Given the description of an element on the screen output the (x, y) to click on. 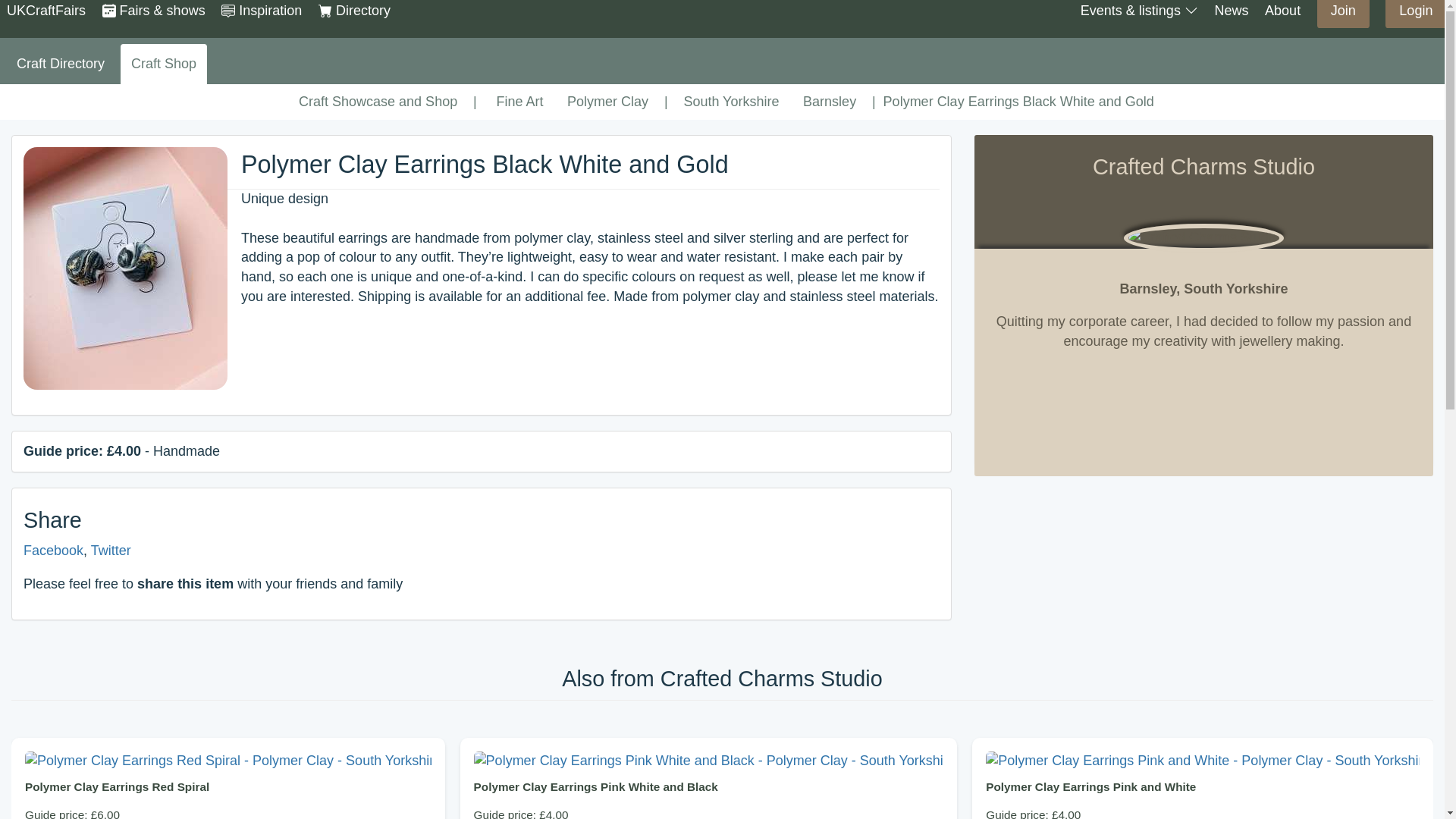
Search the craft blogs and gain inspiration (261, 10)
Facebook (52, 549)
Inspiration (261, 10)
Craft Directory (60, 64)
About (1282, 10)
Become a member of UKCraftFairs (1343, 10)
Learn more about UKCraftFairs (1282, 10)
South Yorkshire (731, 101)
Get the latest news with Craft Weekly (1230, 10)
Fairs and shows (153, 10)
Craft Shop (163, 64)
Join (1343, 10)
UKCraftFairs (46, 10)
Barnsley (829, 101)
